Given the description of an element on the screen output the (x, y) to click on. 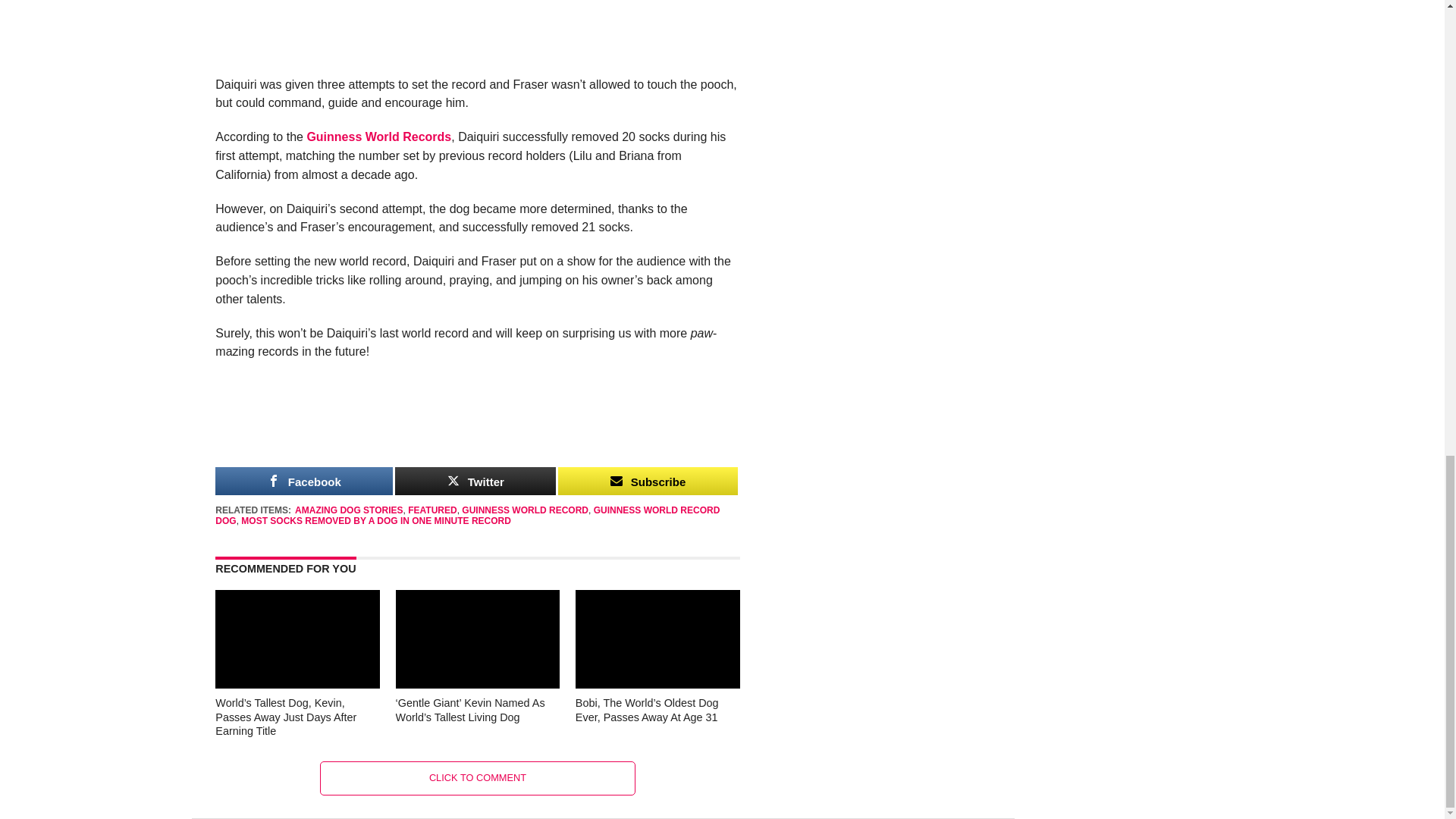
'Gentle Giant' Kevin Named As World'S Tallest Living Dog 4 (478, 638)
Bobi, The World'S Oldest Dog Ever, Passes Away At Age 31 6 (657, 638)
